Given the description of an element on the screen output the (x, y) to click on. 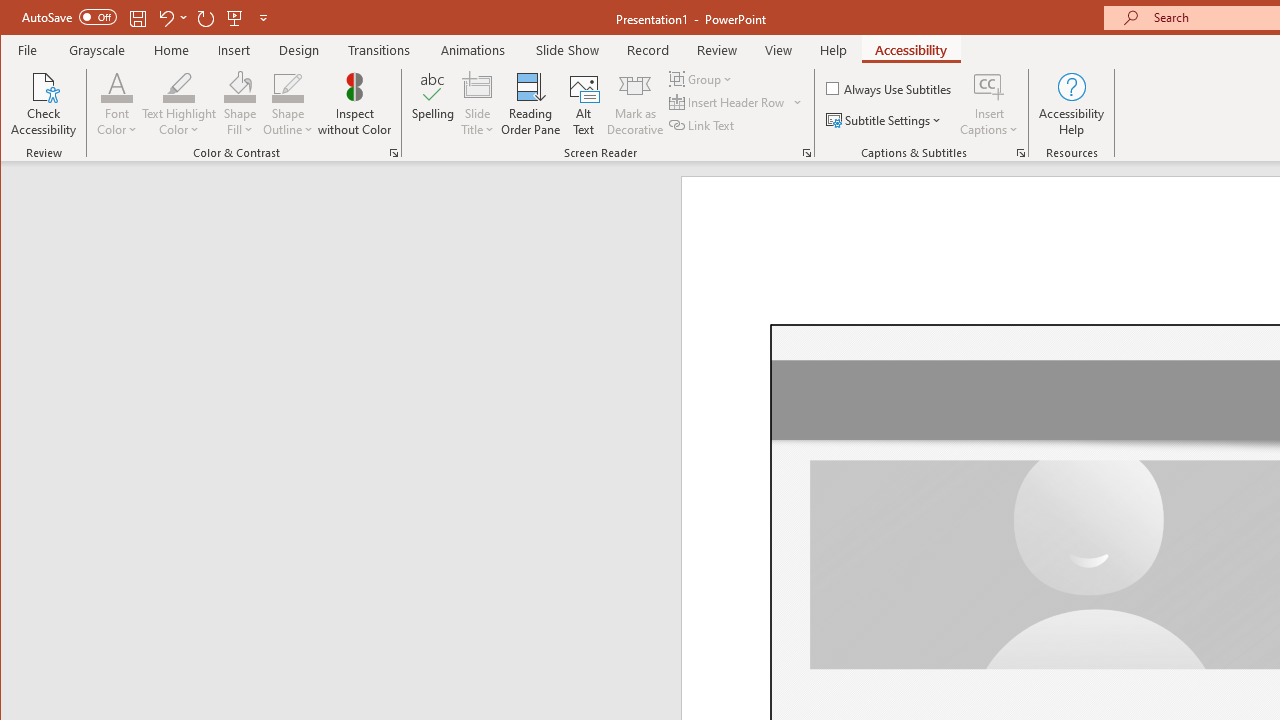
Subtitle Settings (885, 119)
Always Use Subtitles (890, 88)
